Given the description of an element on the screen output the (x, y) to click on. 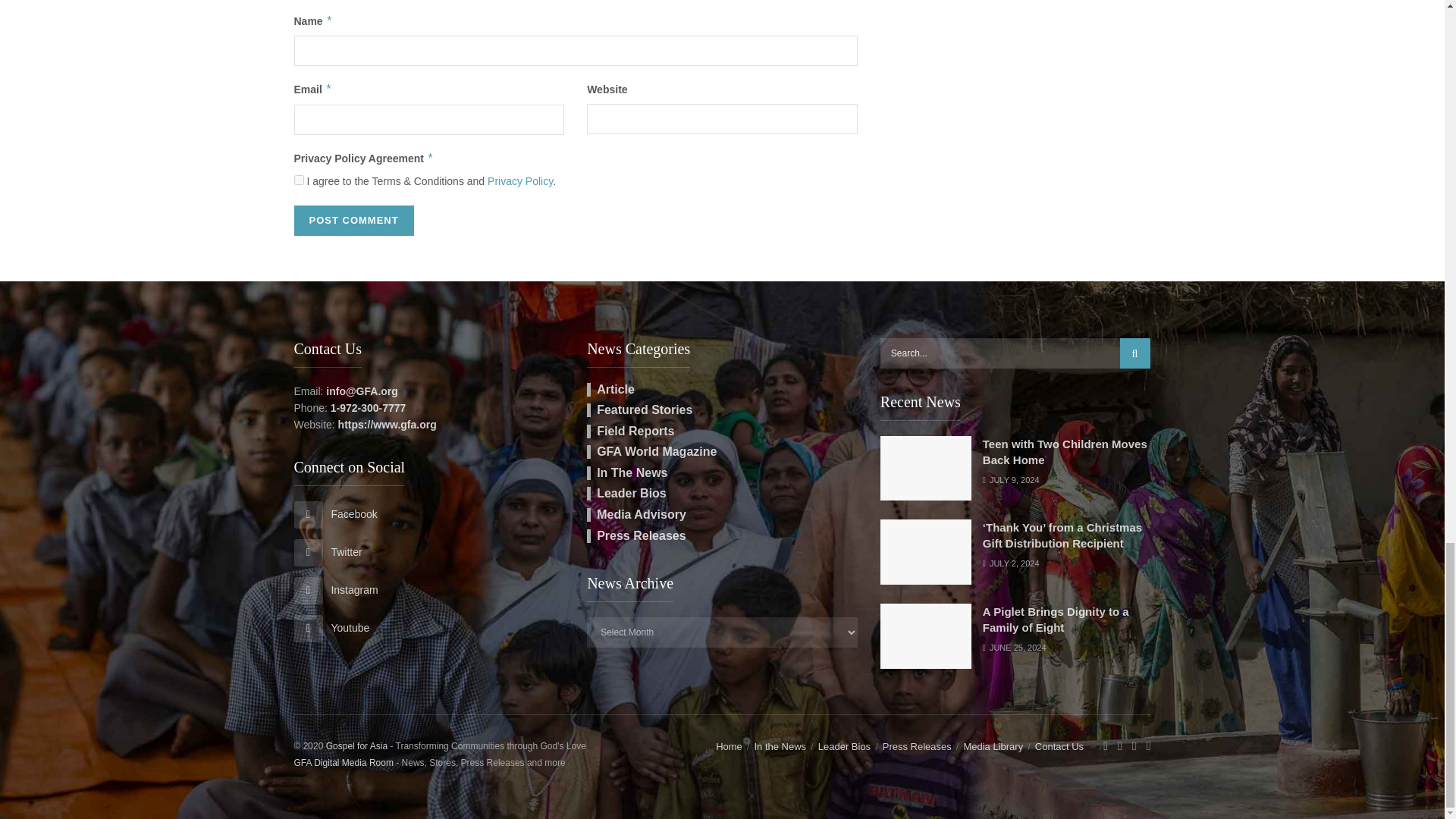
on (299, 180)
Post Comment (353, 219)
GFA Digital Media Room (343, 762)
Gospel for Asia (356, 746)
